Given the description of an element on the screen output the (x, y) to click on. 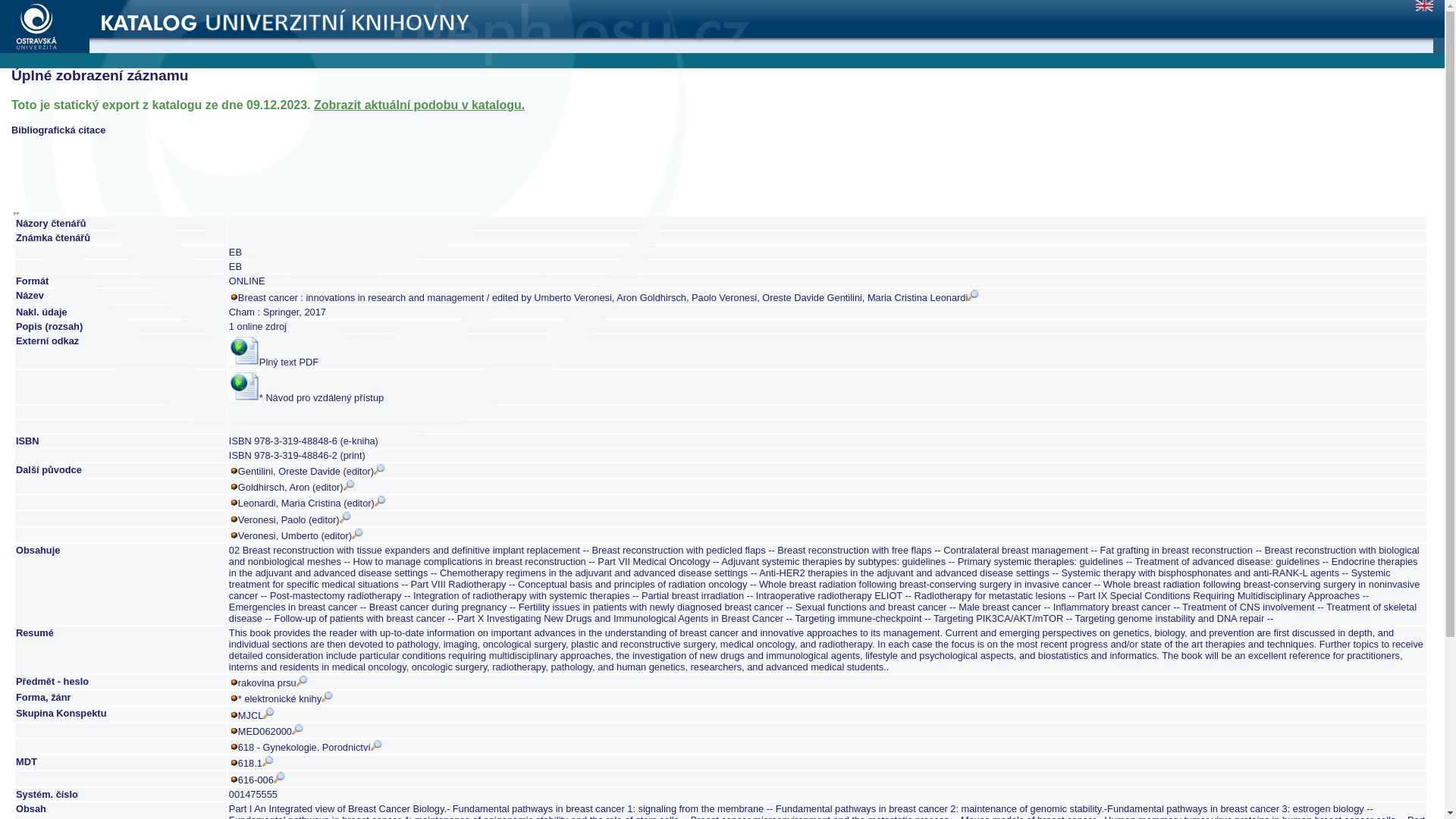
rakovina prsu (272, 682)
MJCL (256, 715)
618.1 (255, 763)
MED062000 (270, 731)
616-006 (261, 779)
